Given the description of an element on the screen output the (x, y) to click on. 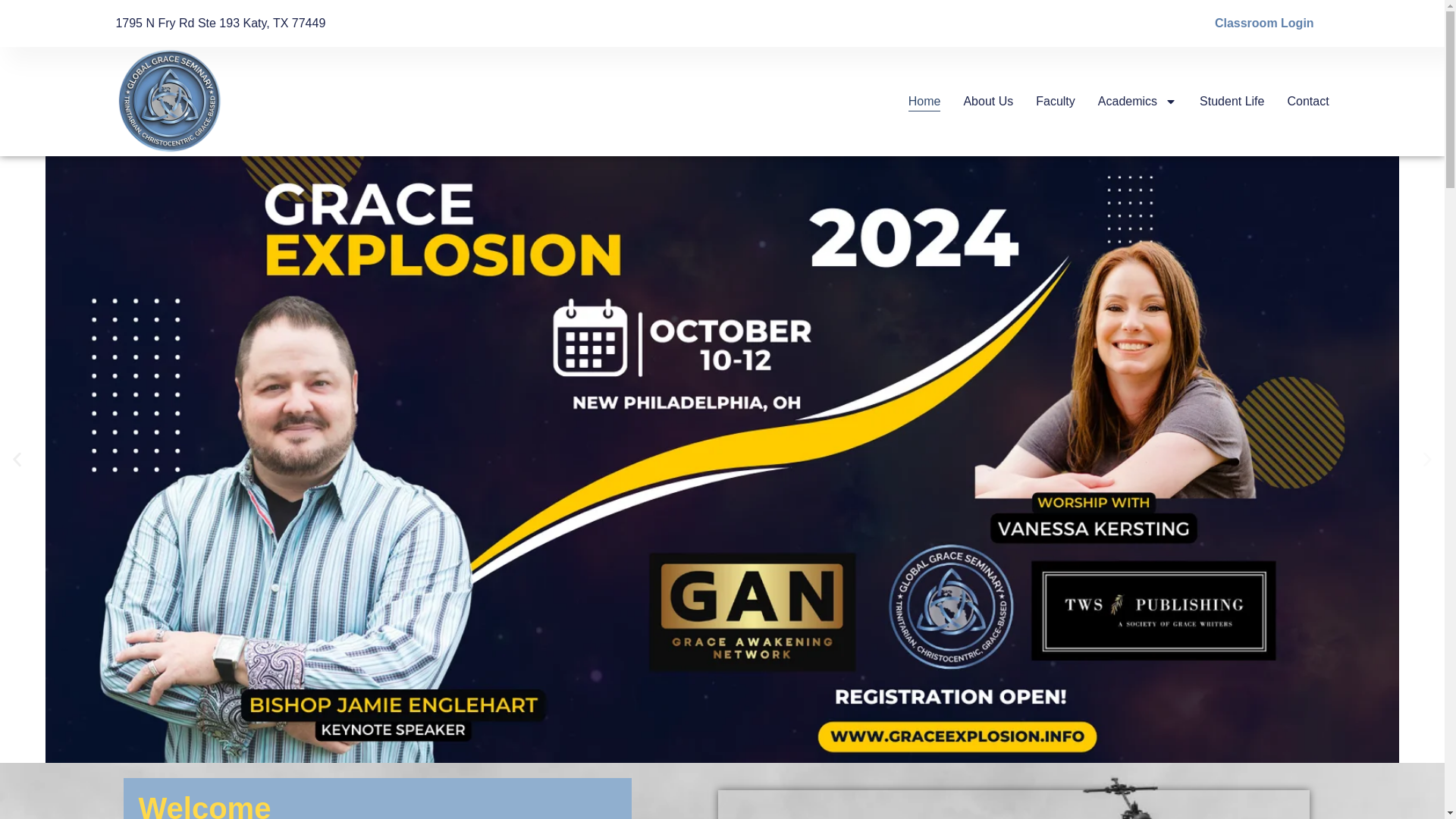
Contact (1307, 101)
Student Life (1231, 101)
Academics (1136, 101)
Faculty (1055, 101)
Classroom Login (1264, 22)
About Us (987, 101)
Home (924, 101)
